Given the description of an element on the screen output the (x, y) to click on. 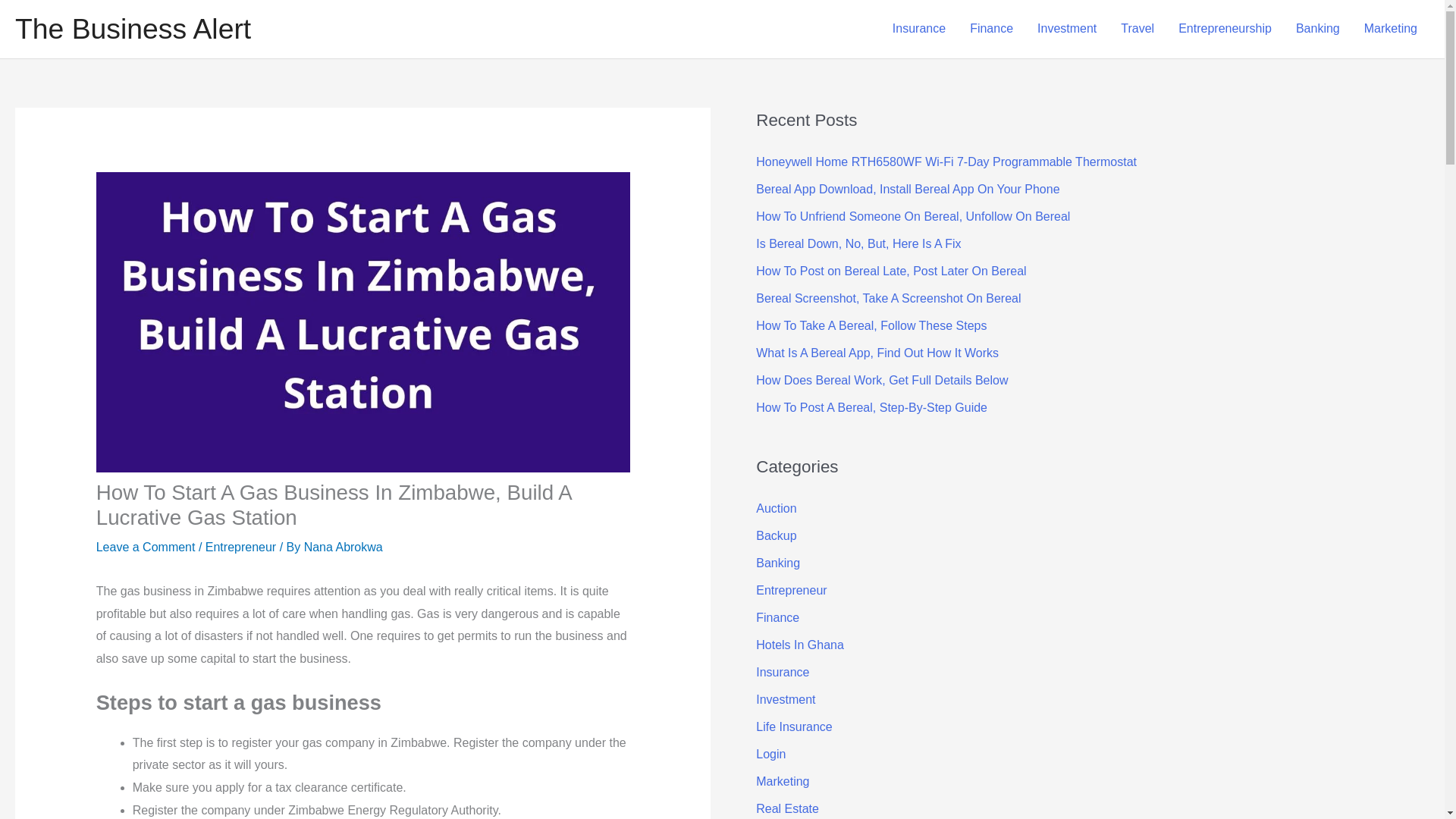
Leave a Comment (145, 546)
Nana Abrokwa (343, 546)
Banking (1318, 28)
Insurance (919, 28)
The Business Alert (132, 29)
Finance (991, 28)
Entrepreneur (240, 546)
Entrepreneurship (1225, 28)
View all posts by Nana Abrokwa (343, 546)
Marketing (1390, 28)
